Given the description of an element on the screen output the (x, y) to click on. 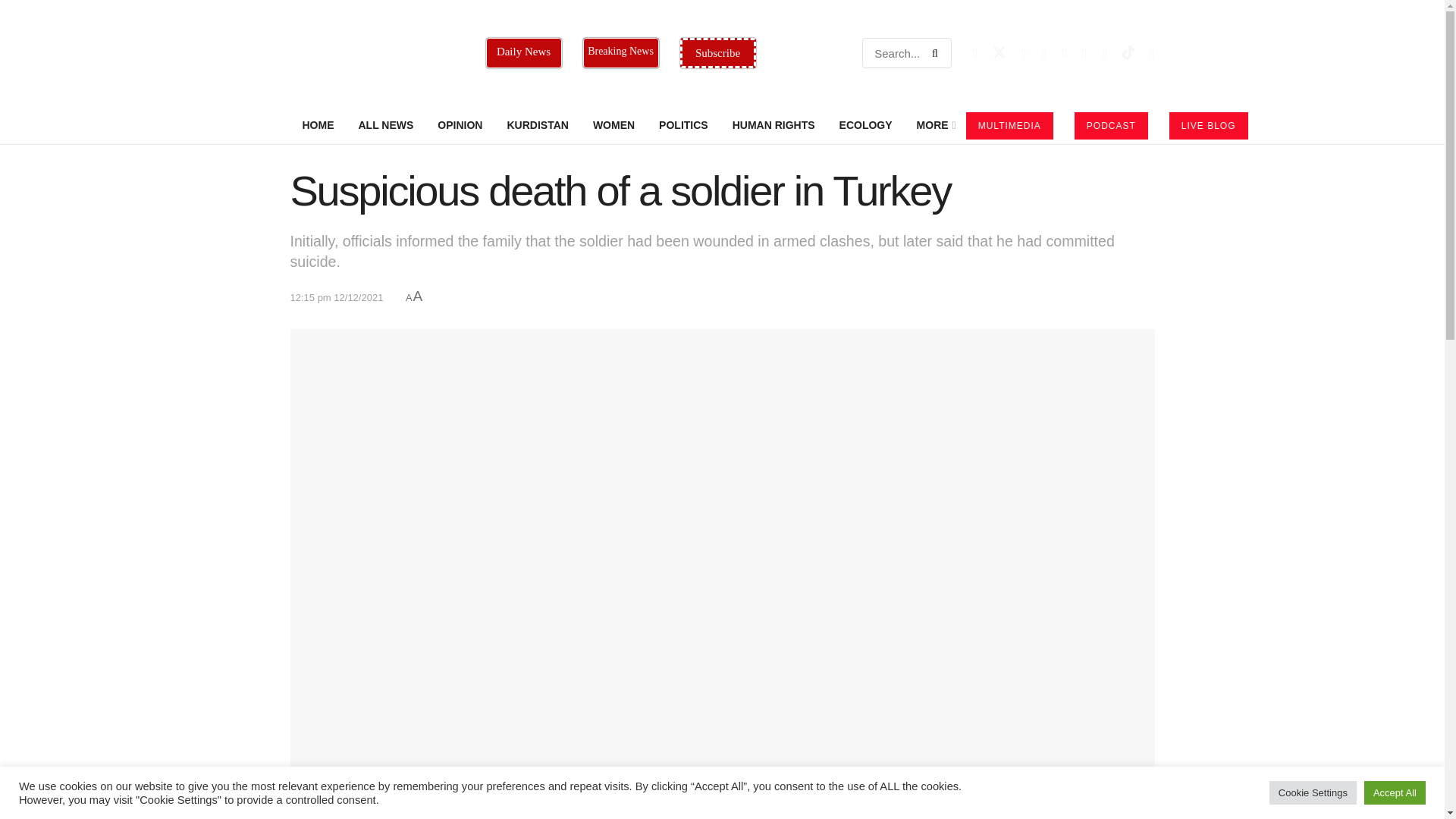
MULTIMEDIA (1009, 125)
KURDISTAN (537, 125)
PODCAST (1111, 125)
MORE (935, 125)
OPINION (460, 125)
HUMAN RIGHTS (773, 125)
ALL NEWS (385, 125)
HOME (317, 125)
WOMEN (613, 125)
Daily News (522, 52)
POLITICS (683, 125)
Subscribe (717, 52)
ECOLOGY (865, 125)
LIVE BLOG (1208, 125)
Breaking News (620, 52)
